Given the description of an element on the screen output the (x, y) to click on. 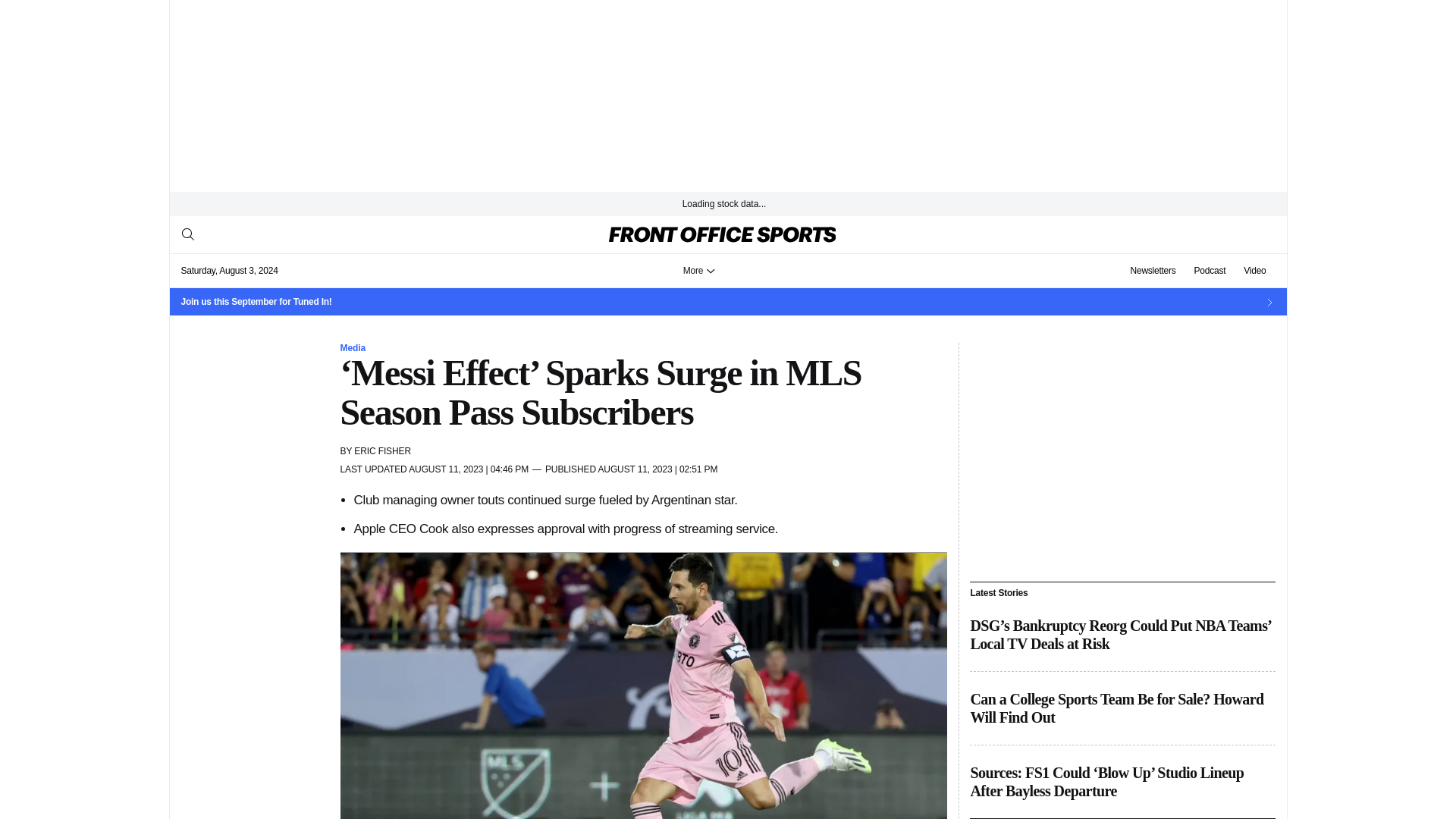
More (699, 270)
Posts by Eric Fisher (381, 450)
